Given the description of an element on the screen output the (x, y) to click on. 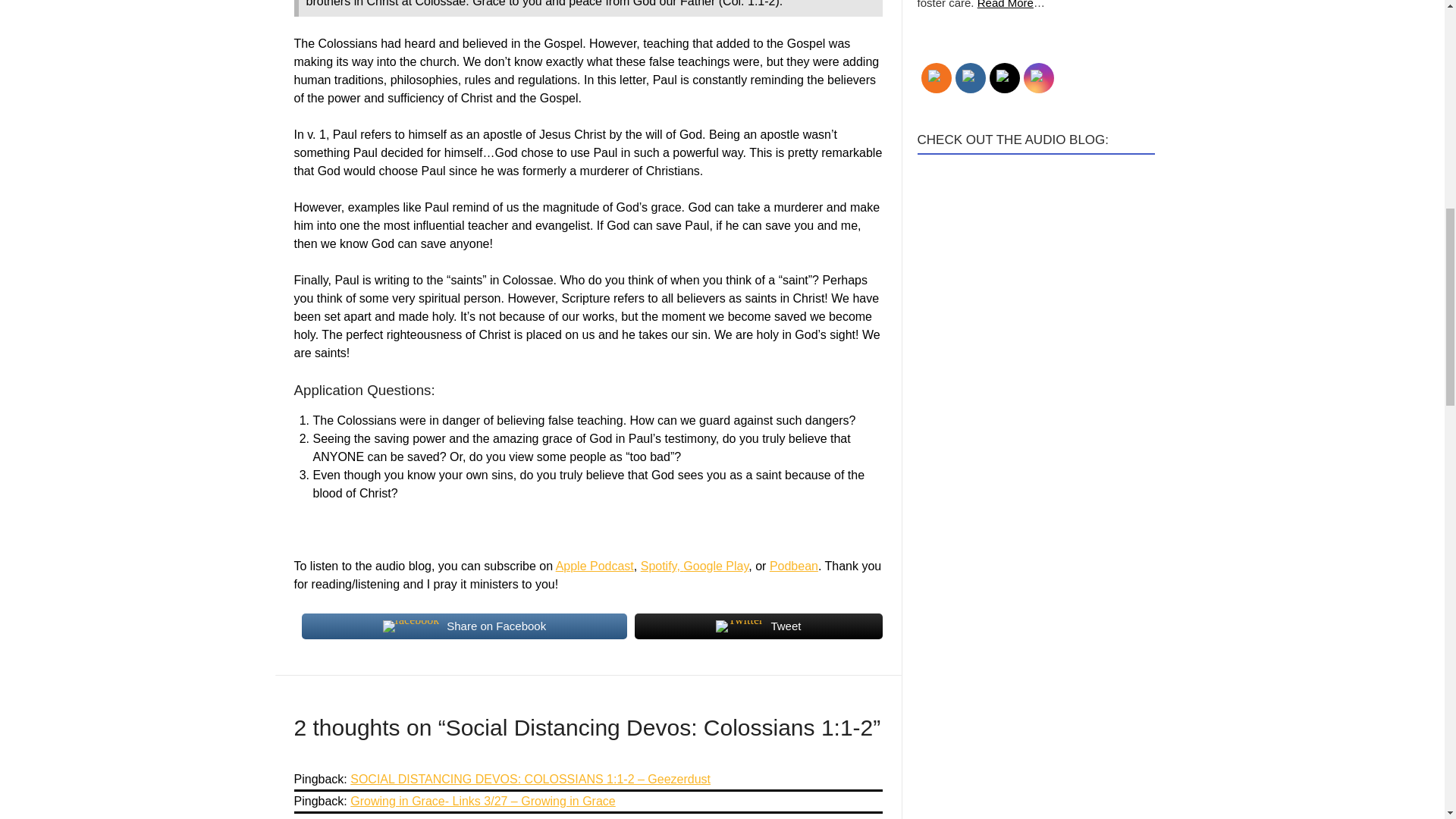
Tweet (758, 625)
RSS (936, 77)
Twitter (1004, 77)
Facebook (969, 77)
Read More (1004, 4)
Podbean (794, 565)
Apple Podcast (594, 565)
Instagram (1037, 77)
Google Play (715, 565)
Spotify,  (662, 565)
